Given the description of an element on the screen output the (x, y) to click on. 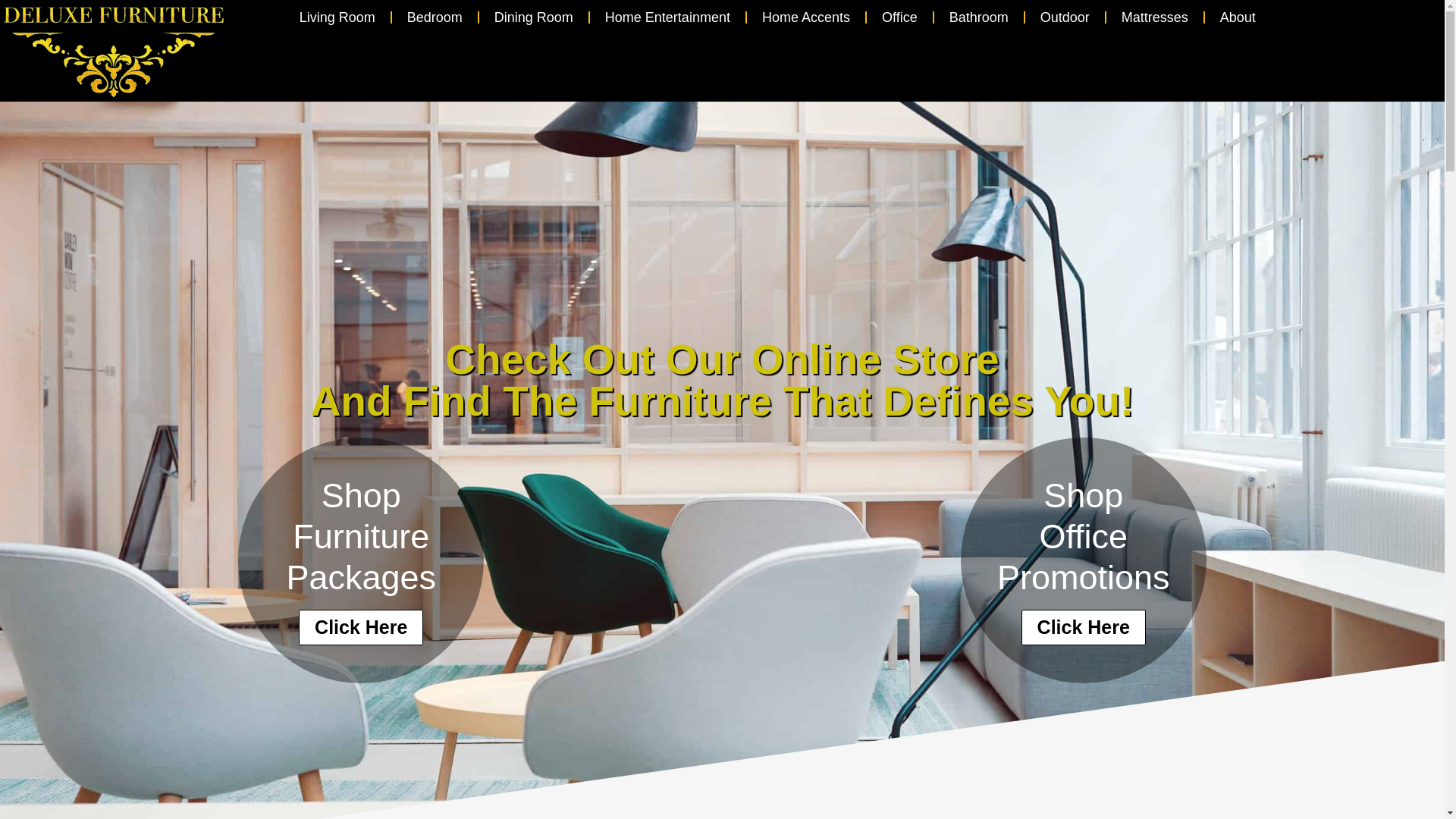
Bedroom (434, 17)
Dining Room (533, 17)
Living Room (336, 17)
